Given the description of an element on the screen output the (x, y) to click on. 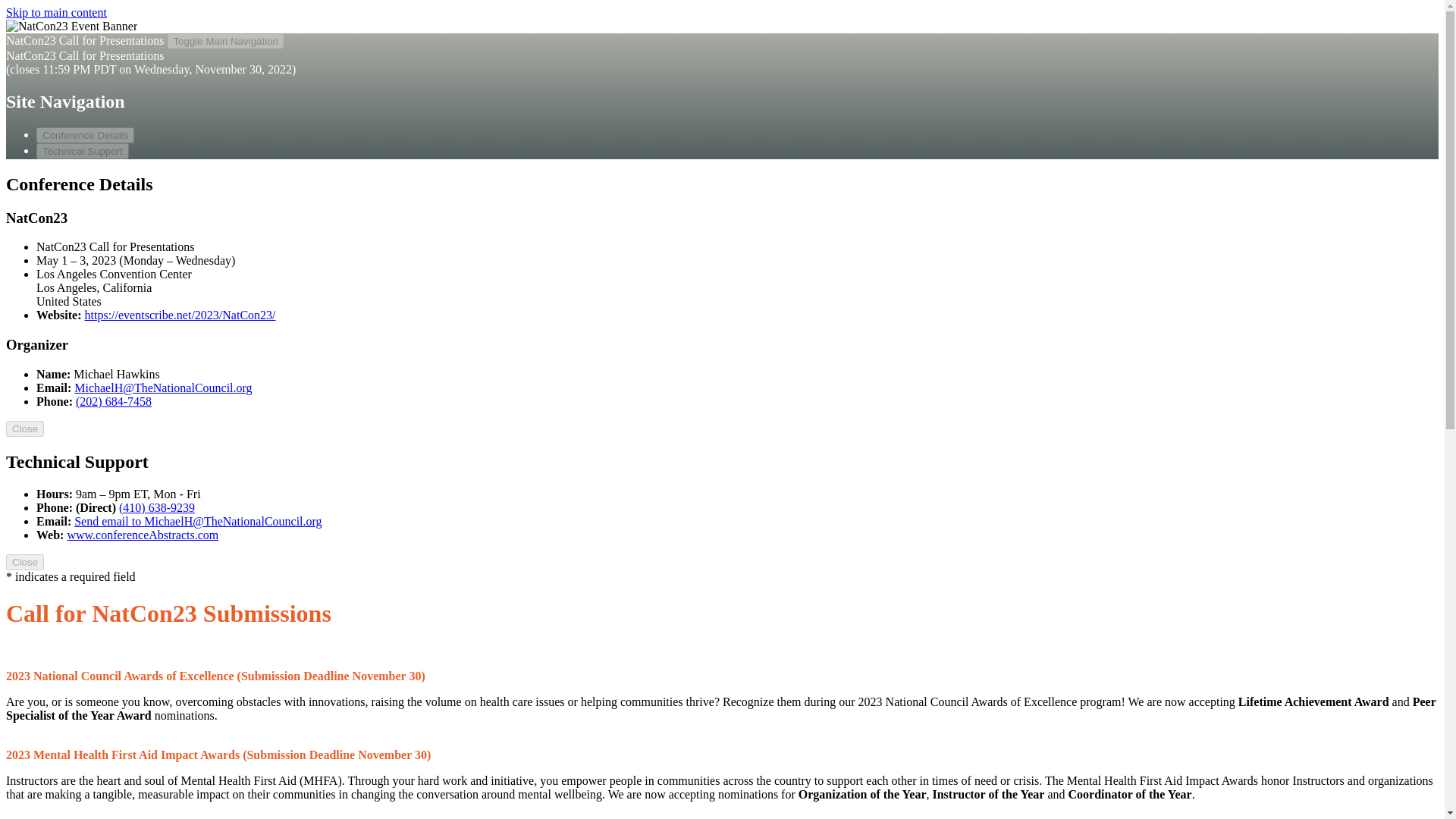
Close (24, 428)
Close (24, 562)
Technical Support (82, 150)
Toggle Main Navigation (225, 41)
Skip to main content (55, 11)
Conference Details (84, 135)
Opens new window (180, 314)
www.conferenceAbstracts.com (142, 534)
Opens new window (142, 534)
